Given the description of an element on the screen output the (x, y) to click on. 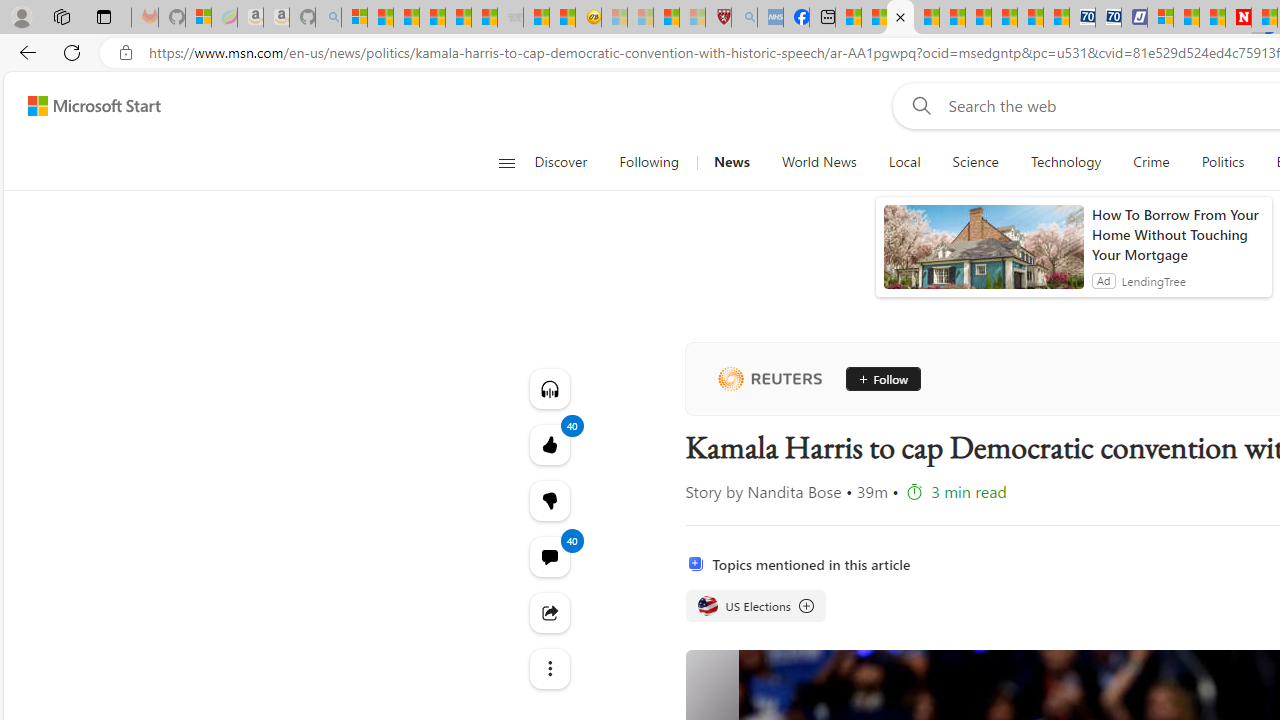
Reuters (769, 378)
Discover (568, 162)
Skip to content (86, 105)
Cheap Hotels - Save70.com (1108, 17)
New tab (822, 17)
View comments 40 Comment (548, 556)
US Elections (707, 606)
Newsweek - News, Analysis, Politics, Business, Technology (1238, 17)
Microsoft account | Privacy (1160, 17)
Technology (1066, 162)
